Given the description of an element on the screen output the (x, y) to click on. 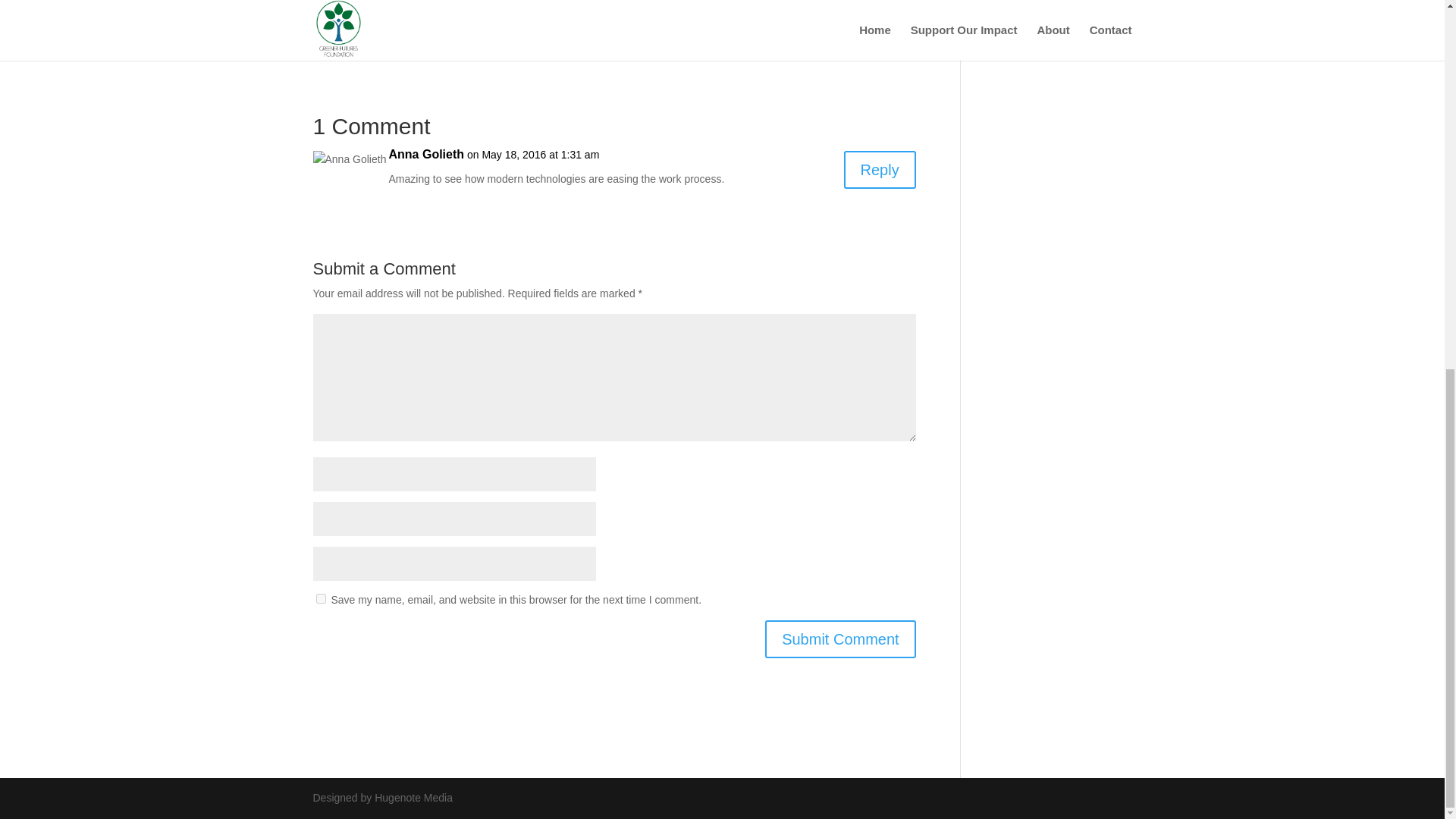
yes (319, 598)
Reply (879, 169)
Submit Comment (840, 638)
How are drones helping the construction engineers? (465, 49)
Submit Comment (840, 638)
